Given the description of an element on the screen output the (x, y) to click on. 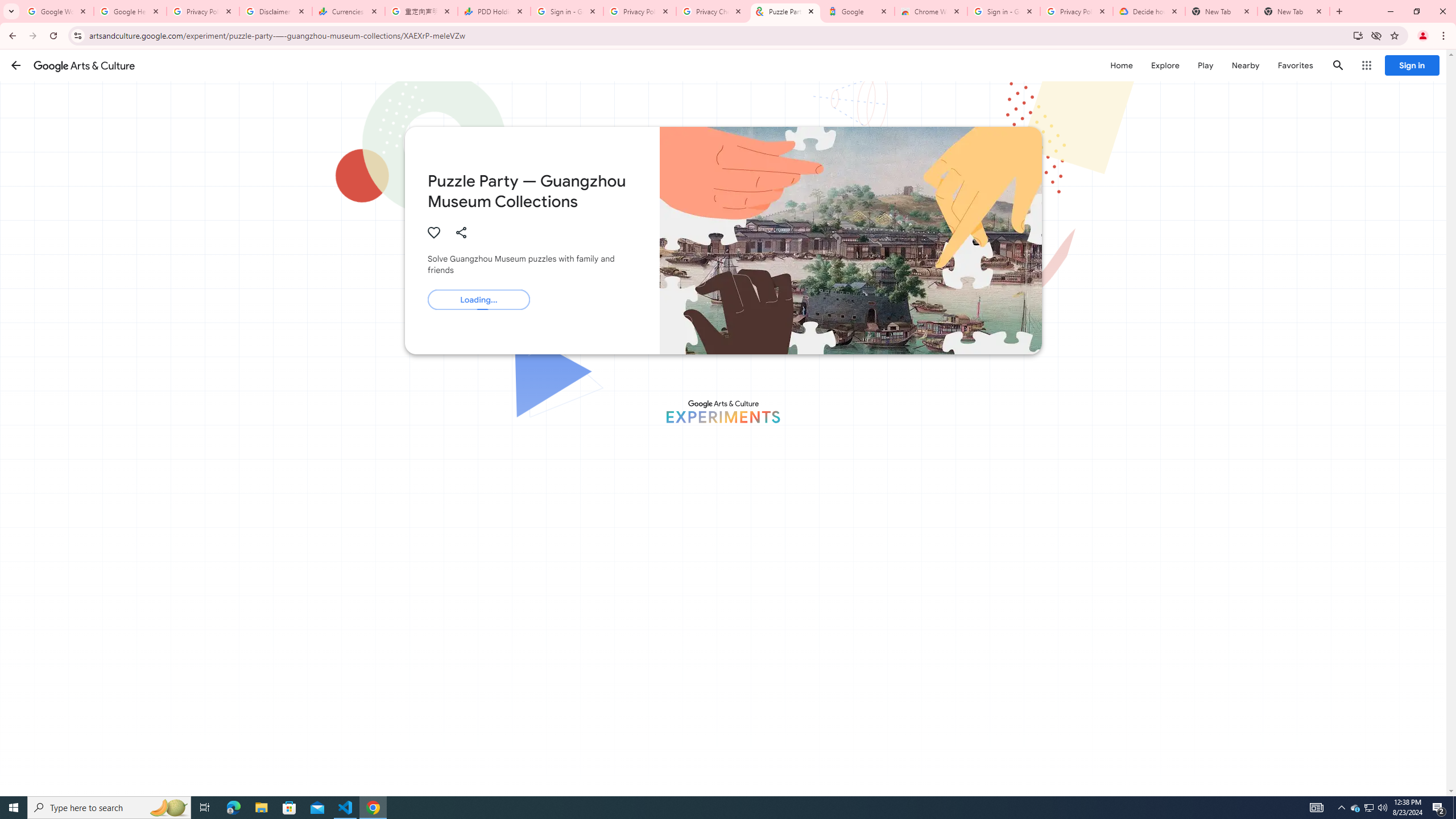
Privacy Checkup (712, 11)
Authenticate to favorite this asset. (432, 232)
Currencies - Google Finance (348, 11)
Sign in - Google Accounts (566, 11)
Google (857, 11)
